Given the description of an element on the screen output the (x, y) to click on. 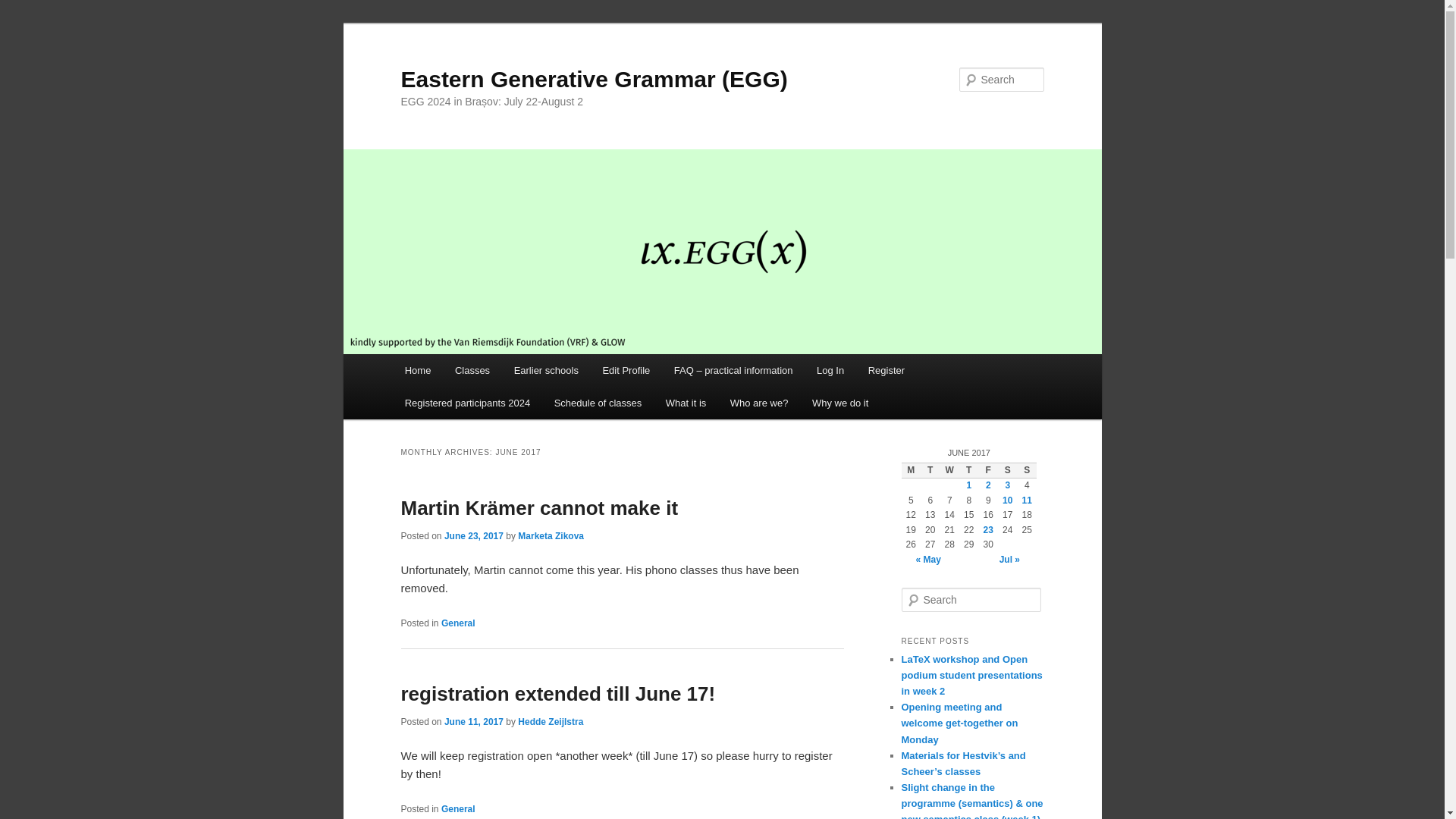
10:05 pm (473, 721)
View all posts by Marketa Zikova (550, 535)
Classes (472, 369)
Tuesday (930, 470)
Monday (910, 470)
View all posts by Hedde Zeijlstra (550, 721)
Search (24, 8)
Wednesday (949, 470)
Home (417, 369)
Earlier schools (546, 369)
8:34 am (473, 535)
